Given the description of an element on the screen output the (x, y) to click on. 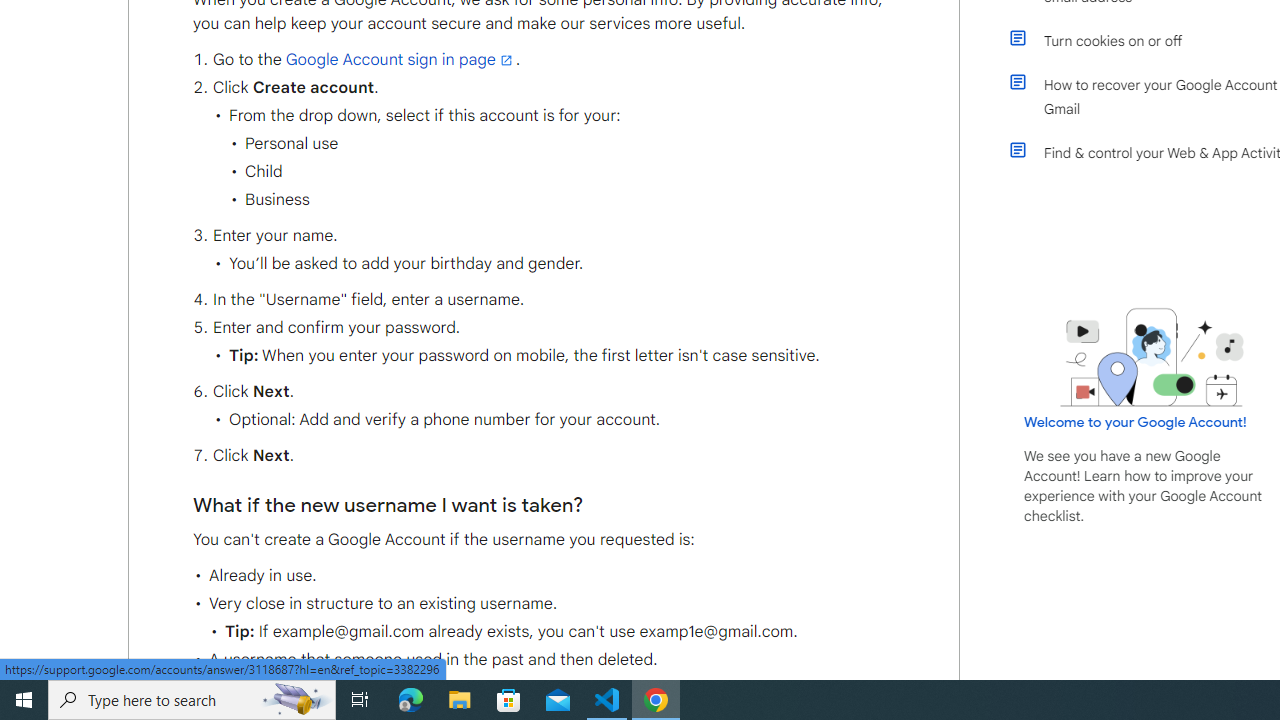
Welcome to your Google Account! (1135, 422)
Learning Center home page image (1152, 357)
Google Account sign in page (400, 59)
